Given the description of an element on the screen output the (x, y) to click on. 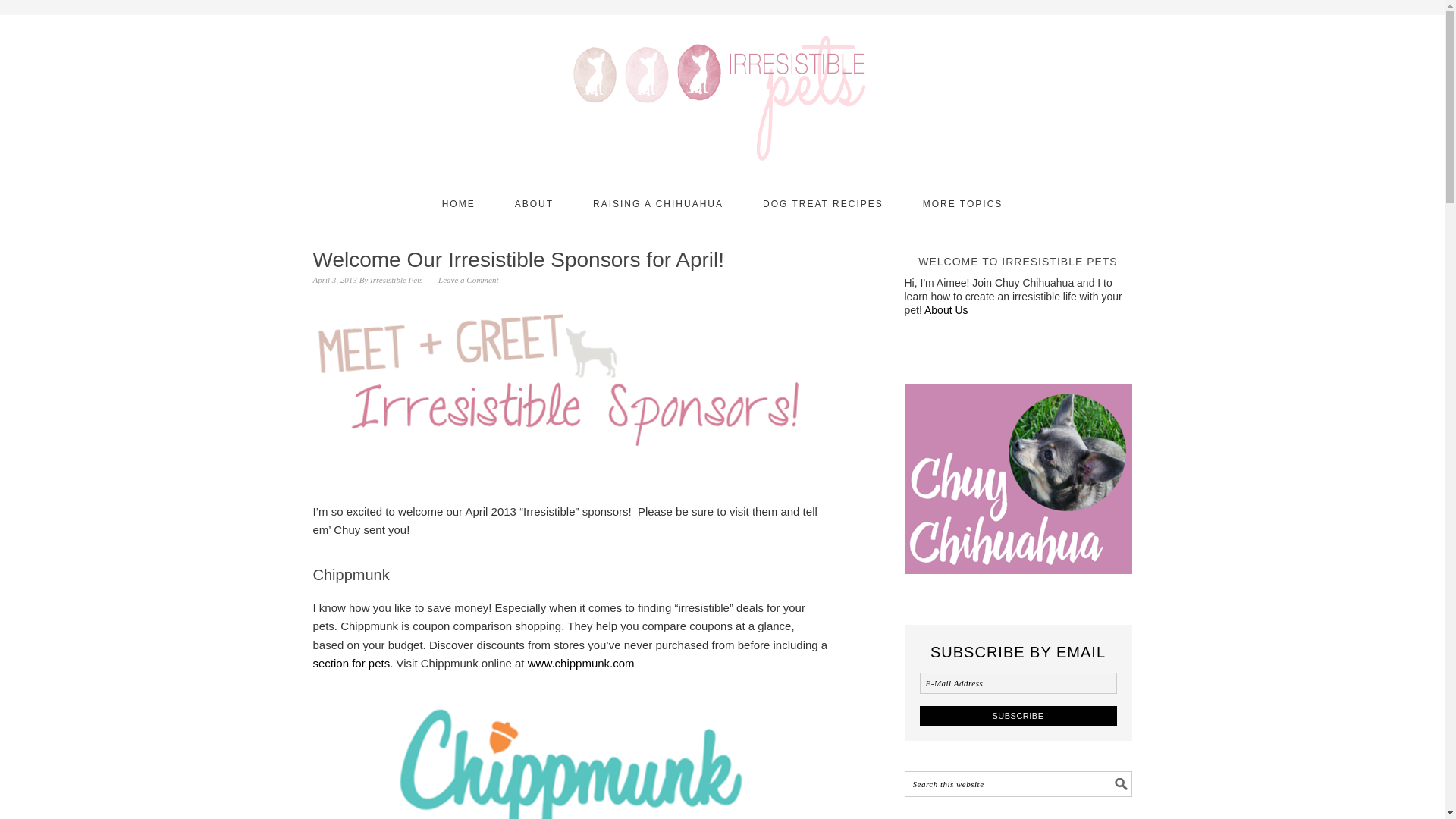
DOG TREAT RECIPES (823, 203)
MORE TOPICS (963, 203)
IRRESISTIBLE PETS (722, 92)
HOME (459, 203)
Irresistible Pets (396, 279)
RAISING A CHIHUAHUA (657, 203)
ABOUT (534, 203)
Leave a Comment (467, 279)
About Us (946, 309)
